Given the description of an element on the screen output the (x, y) to click on. 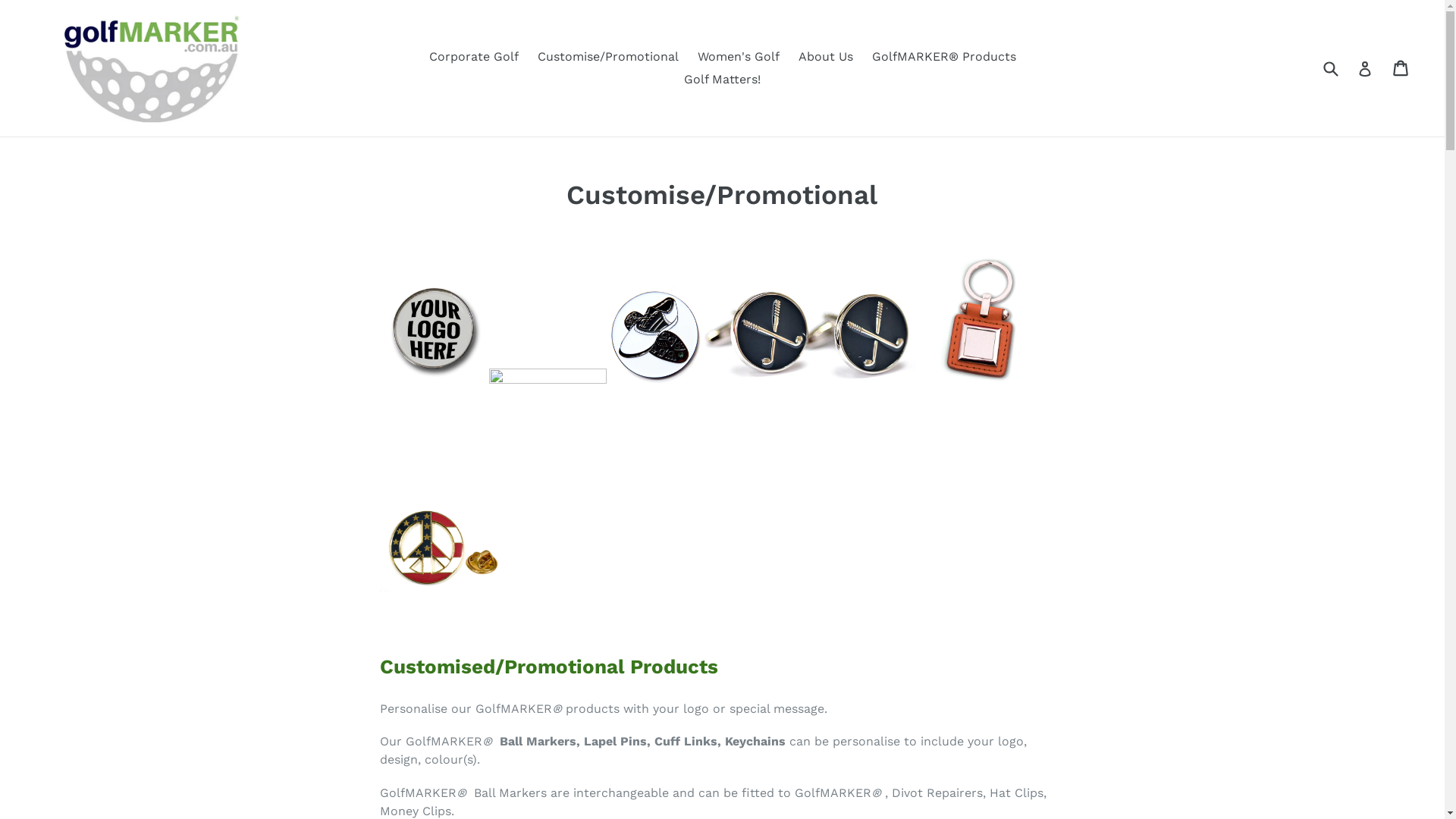
Cart
Cart Element type: text (1401, 67)
Corporate Golf Element type: text (473, 56)
About Us Element type: text (824, 56)
Log in Element type: text (1364, 68)
Golf Matters! Element type: text (722, 79)
Women's Golf Element type: text (738, 56)
Customise/Promotional Element type: text (607, 56)
Submit Element type: text (1329, 67)
